Given the description of an element on the screen output the (x, y) to click on. 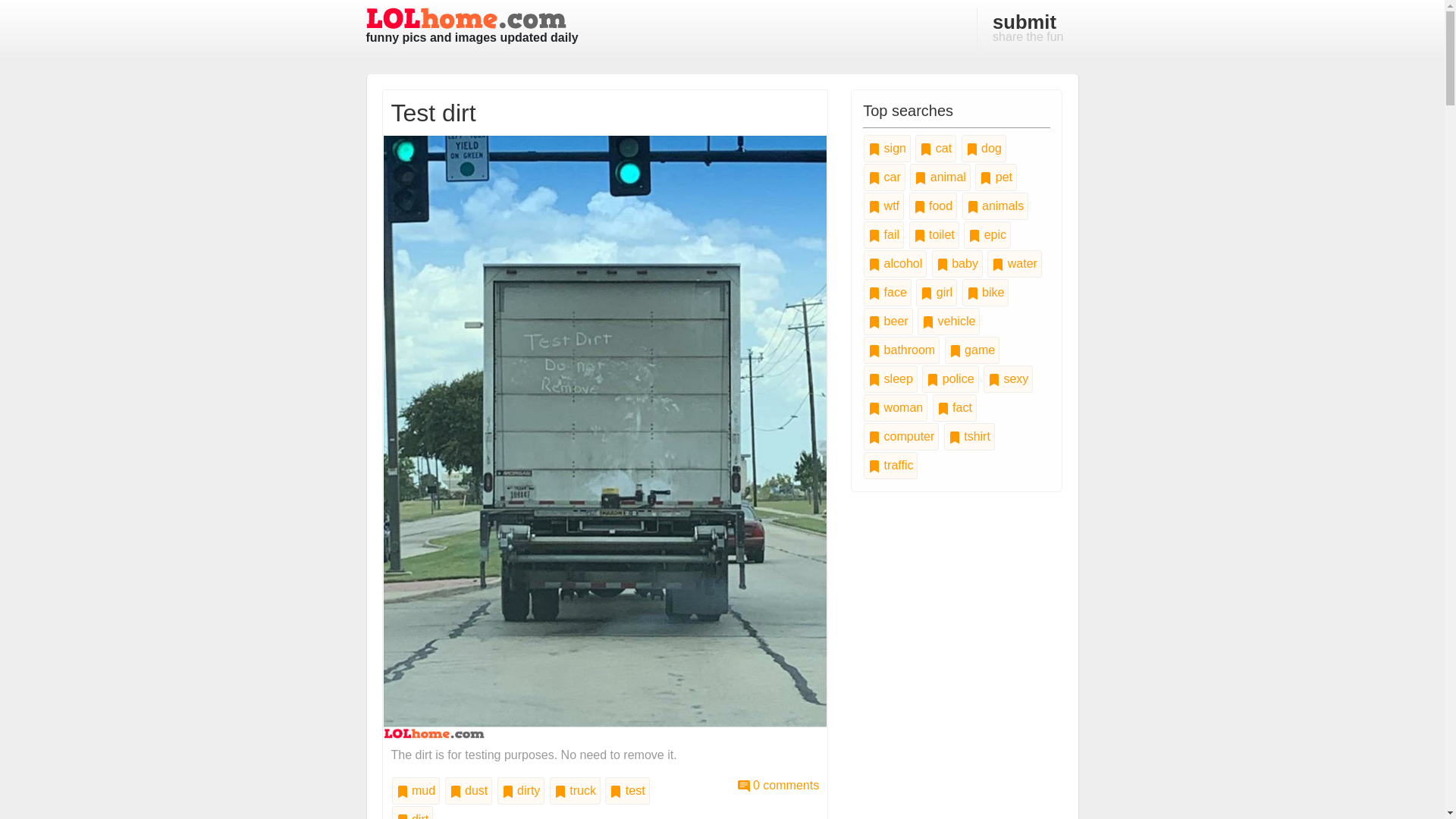
truck (1027, 29)
Test dirt (574, 790)
dirty (778, 784)
mud (520, 790)
0 comments (415, 790)
Test dirt (778, 784)
dirt (605, 436)
test (411, 812)
dust (627, 790)
